Given the description of an element on the screen output the (x, y) to click on. 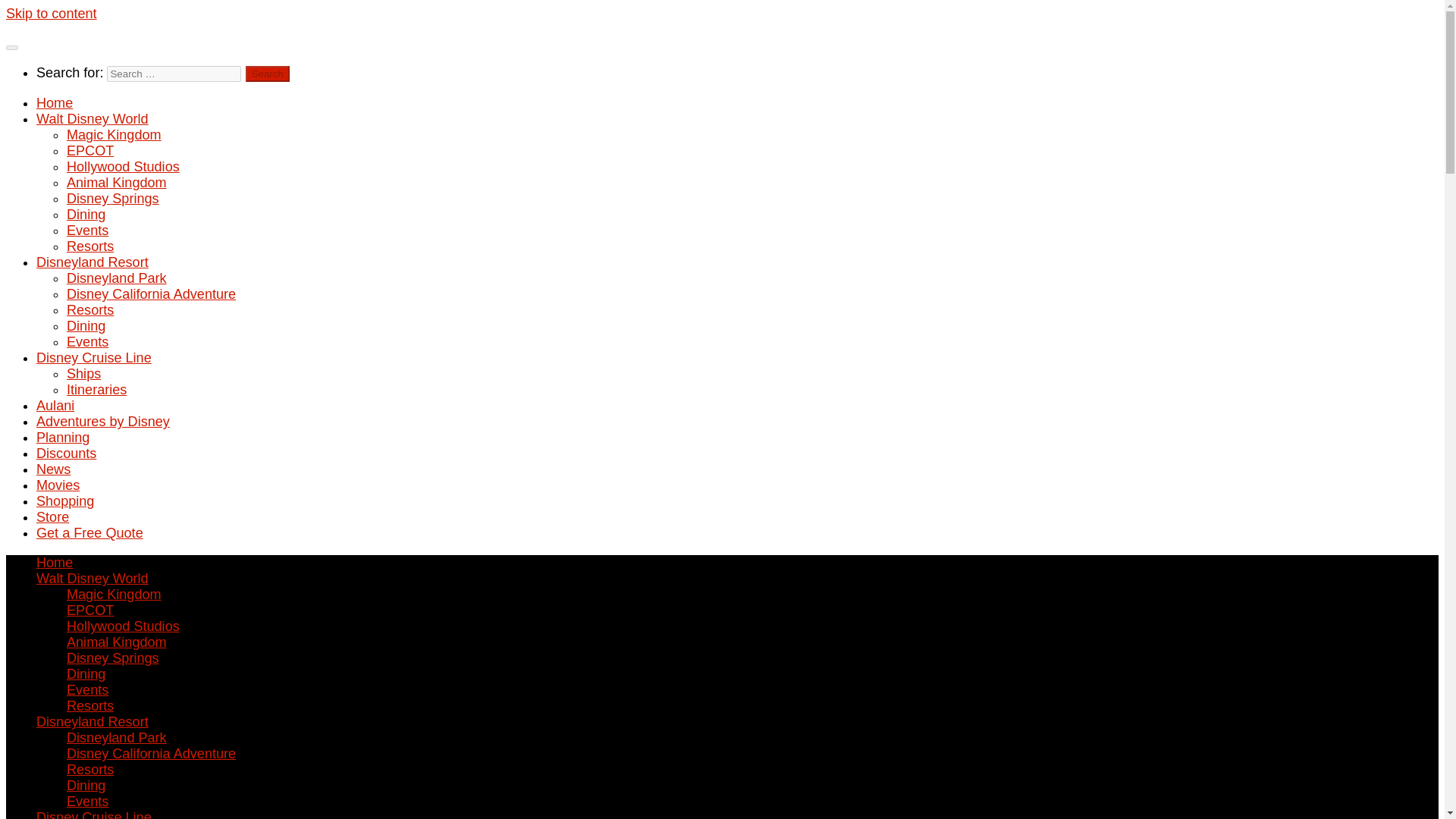
Disney California Adventure (150, 294)
Events (86, 230)
Search (267, 73)
Home (54, 102)
Shopping (65, 500)
Dining (85, 214)
Magic Kingdom (113, 134)
Disney Springs (112, 657)
Skip to content (51, 13)
Get a Free Quote (89, 532)
